Given the description of an element on the screen output the (x, y) to click on. 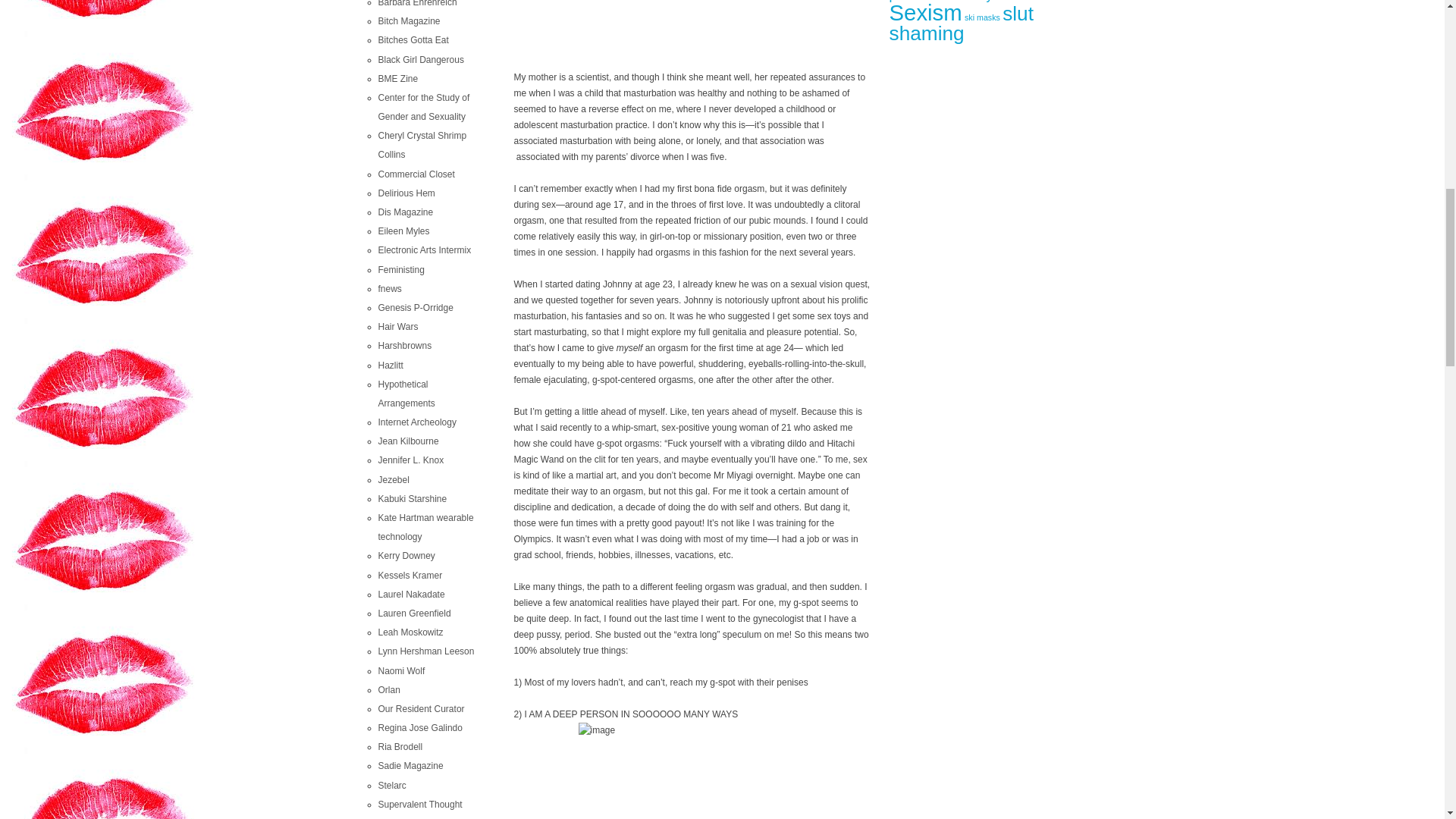
BME Zine (397, 78)
Commercial Closet (415, 173)
Bitches Gotta Eat (412, 40)
Delirious Hem (405, 193)
Cheryl Crystal Shrimp Collins (421, 144)
Bitch Magazine (408, 20)
Black Girl Dangerous (420, 59)
Center for the Study of Gender and Sexuality (422, 107)
Lauren Berlant (419, 804)
Barbara Ehrenreich (417, 3)
